Given the description of an element on the screen output the (x, y) to click on. 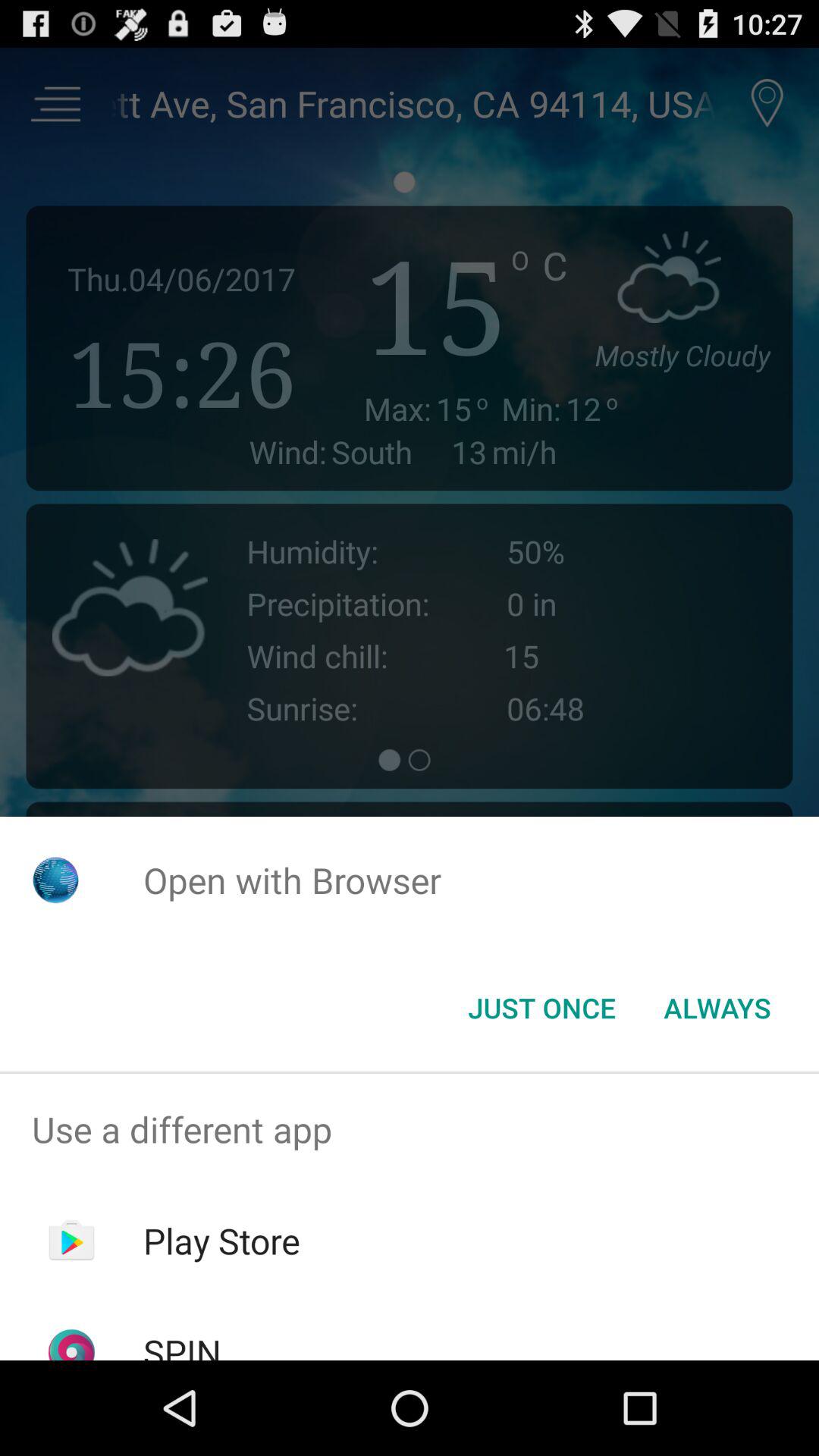
choose the spin item (182, 1344)
